Given the description of an element on the screen output the (x, y) to click on. 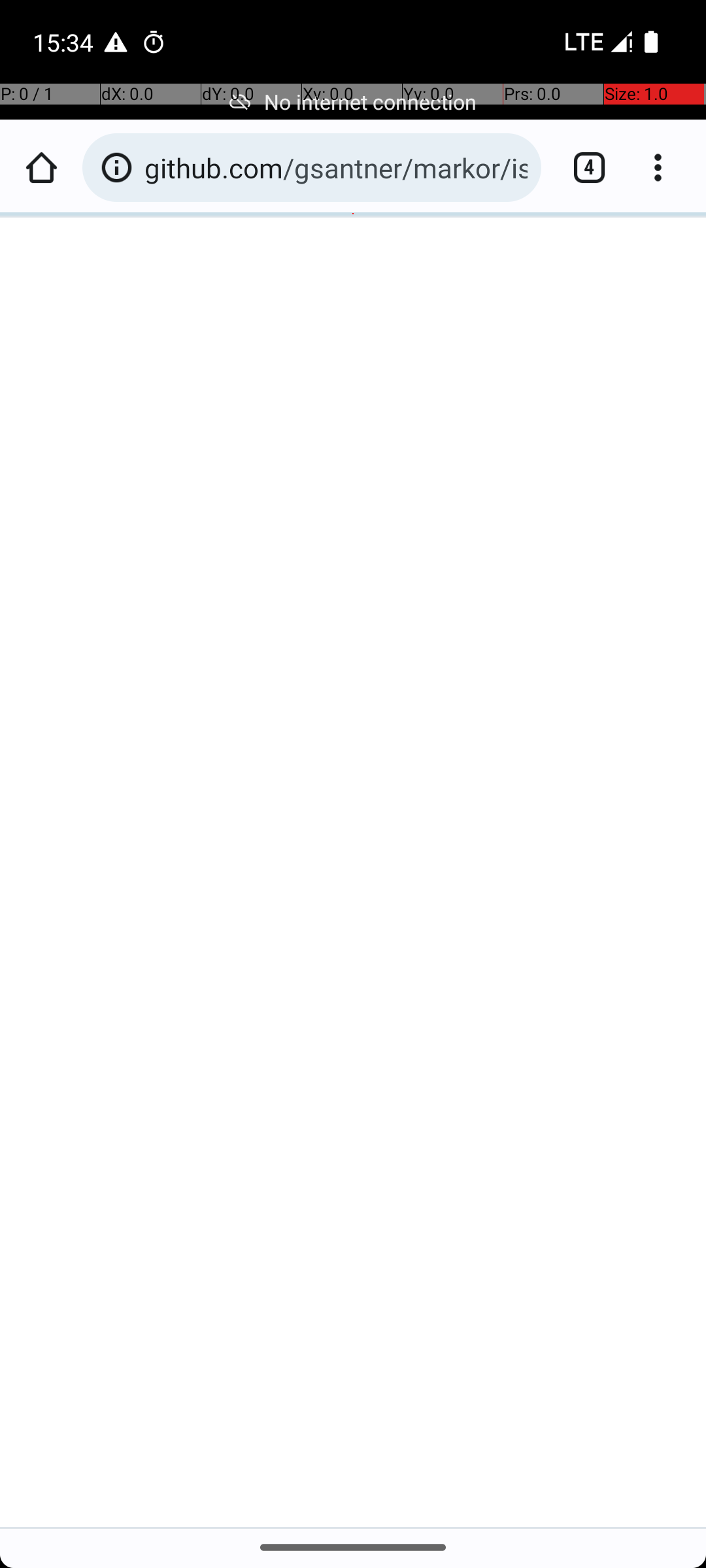
github.com/gsantner/markor/issues/new/choose Element type: android.widget.EditText (335, 167)
